Given the description of an element on the screen output the (x, y) to click on. 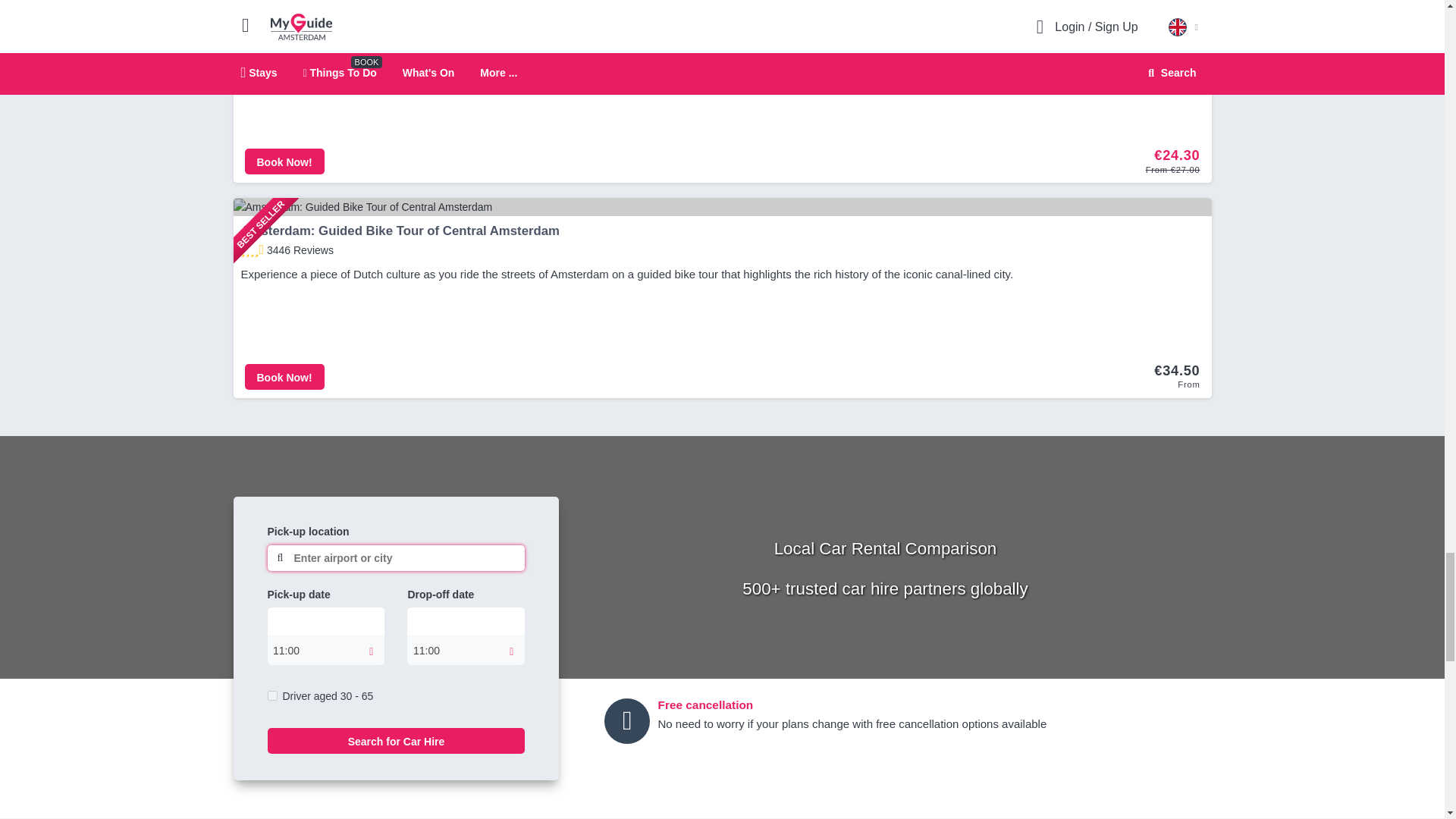
on (271, 696)
